Given the description of an element on the screen output the (x, y) to click on. 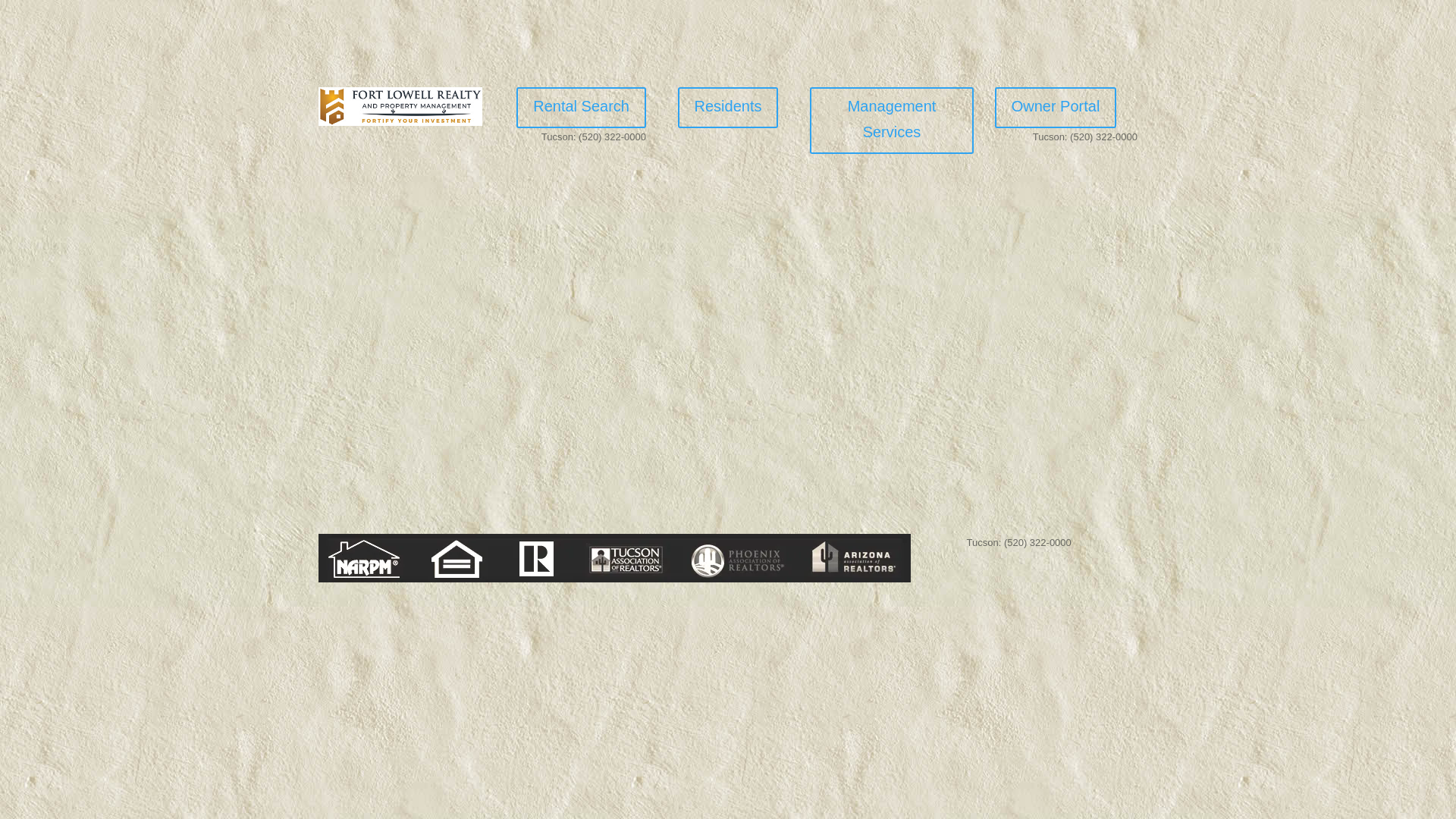
FortLowes-r3 (399, 106)
logos (614, 557)
Owner Portal (1055, 106)
Rental Search (581, 106)
Management Services (891, 119)
Residents (728, 106)
